Given the description of an element on the screen output the (x, y) to click on. 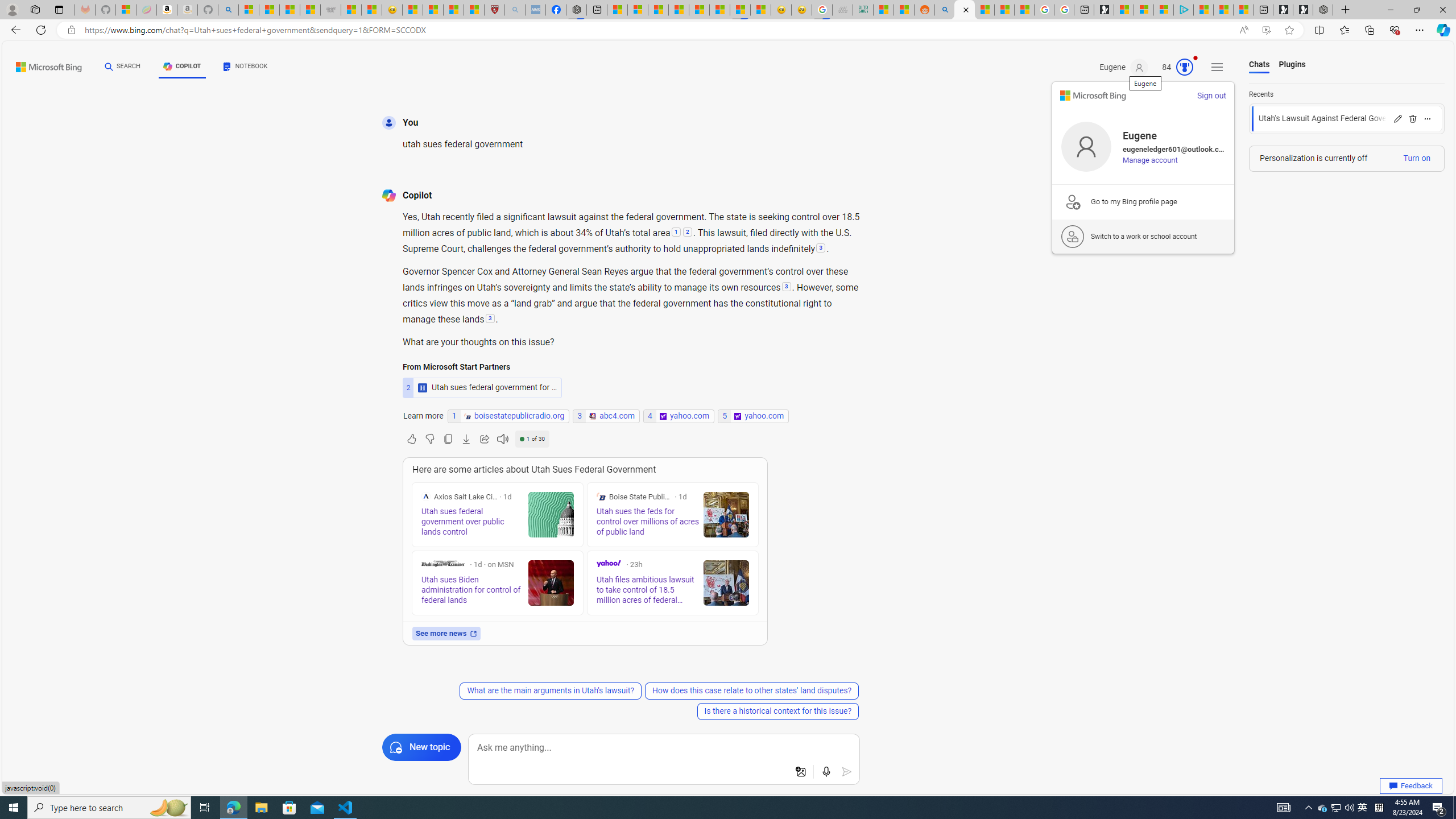
AutomationID: rh_meter (1184, 66)
Add an image to search (800, 771)
SEARCH (122, 66)
Plugins (1292, 65)
2Utah sues federal government for control of public lands (482, 387)
Profile Picture (1085, 146)
